Given the description of an element on the screen output the (x, y) to click on. 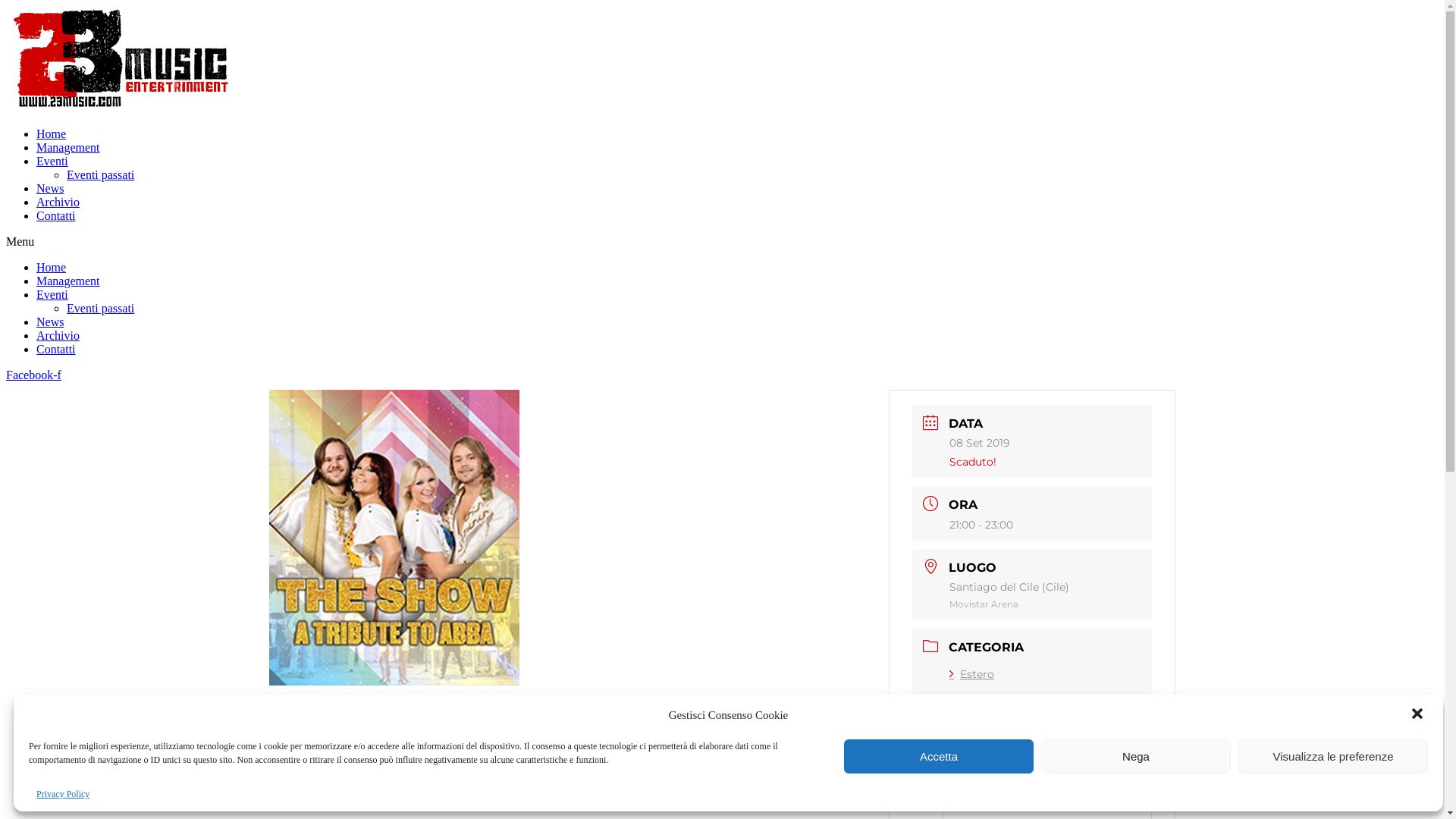
News Element type: text (49, 188)
Home Element type: text (50, 133)
Nega Element type: text (1135, 756)
Accetta Element type: text (938, 756)
Facebook-f Element type: text (33, 374)
Eventi Element type: text (52, 160)
Eventi passati Element type: text (100, 307)
Eventi passati Element type: text (100, 174)
Estero Element type: text (971, 673)
Eventi Element type: text (52, 294)
Contatti Element type: text (55, 215)
News Element type: text (49, 321)
Privacy Policy Element type: text (62, 794)
Archivio Element type: text (57, 201)
Contatti Element type: text (55, 348)
Archivio Element type: text (57, 335)
Visualizza le preferenze Element type: text (1332, 756)
Home Element type: text (50, 266)
Management Element type: text (68, 147)
Management Element type: text (68, 280)
